Given the description of an element on the screen output the (x, y) to click on. 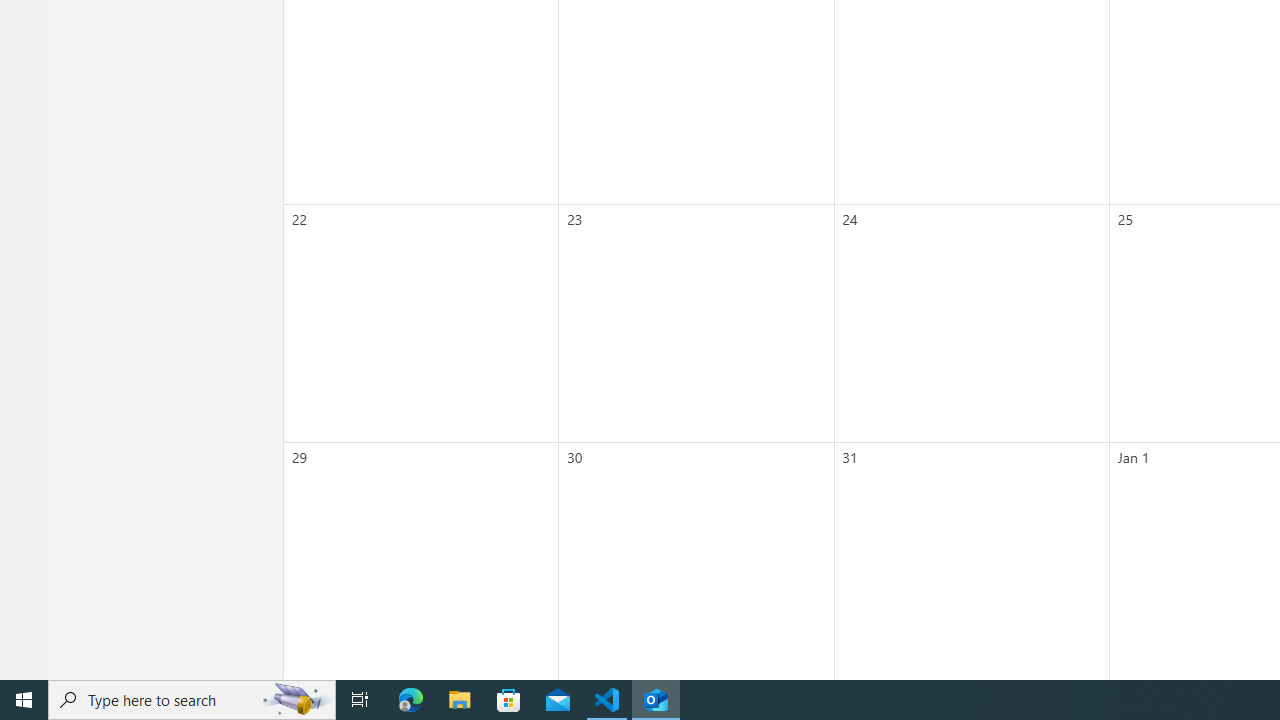
File Explorer (460, 699)
Type here to search (191, 699)
Microsoft Edge (411, 699)
Start (24, 699)
Search highlights icon opens search home window (295, 699)
Task View (359, 699)
Outlook (new) - 1 running window (656, 699)
Visual Studio Code - 1 running window (607, 699)
Microsoft Store (509, 699)
